Given the description of an element on the screen output the (x, y) to click on. 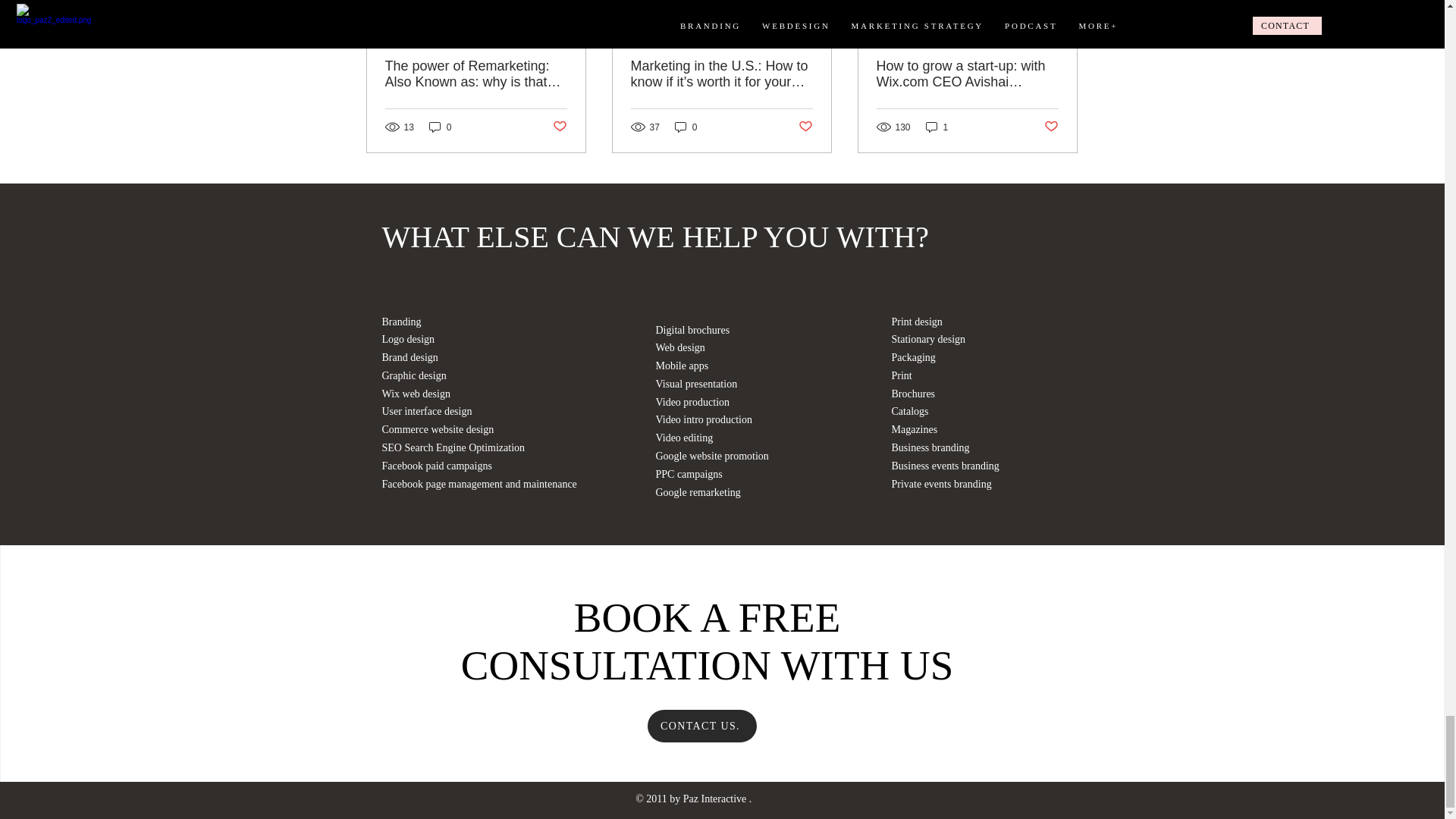
0 (685, 126)
0 (440, 126)
Post not marked as liked (558, 126)
